Given the description of an element on the screen output the (x, y) to click on. 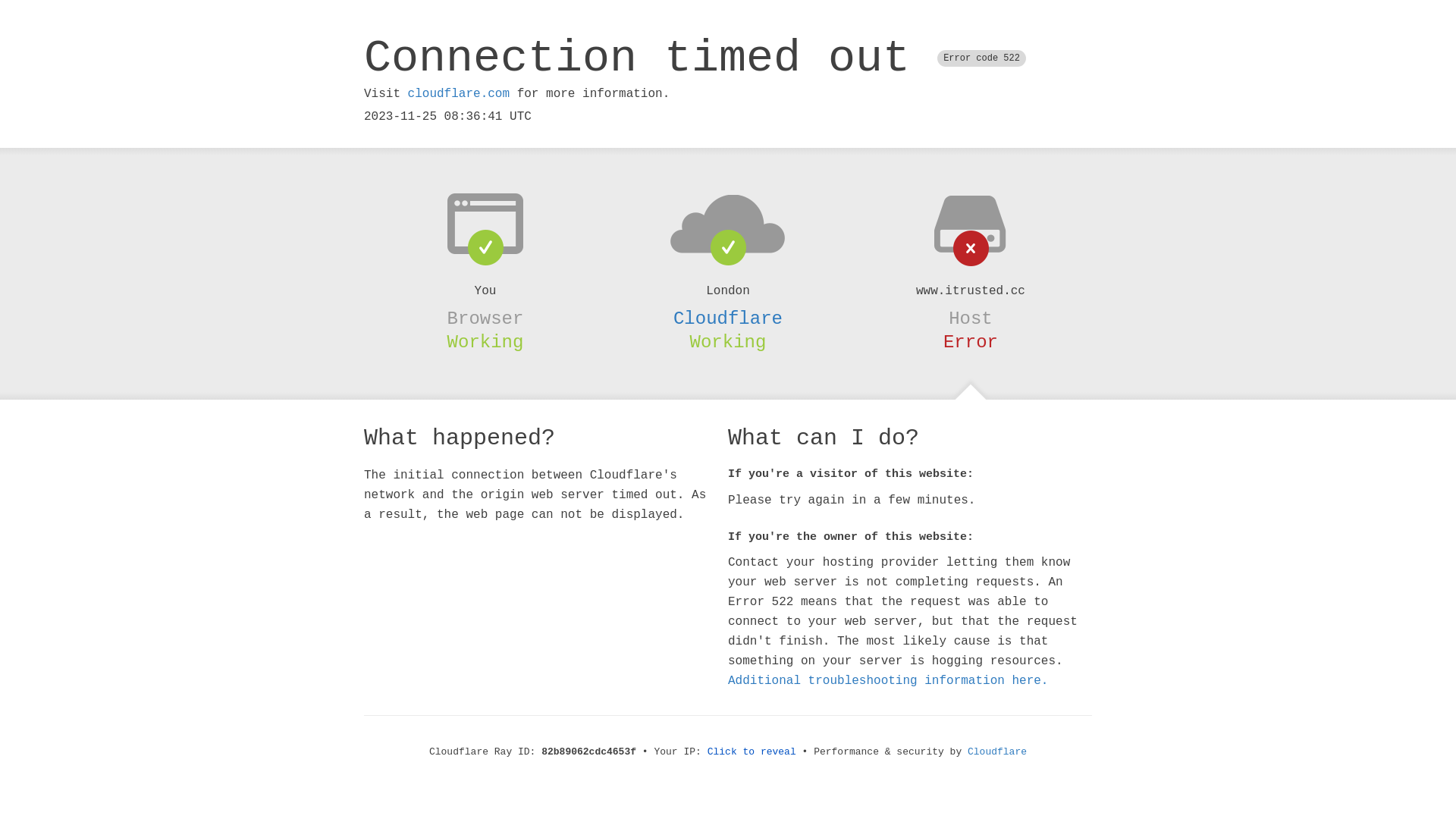
Additional troubleshooting information here. Element type: text (888, 680)
cloudflare.com Element type: text (458, 93)
Cloudflare Element type: text (727, 318)
Cloudflare Element type: text (996, 751)
Click to reveal Element type: text (751, 751)
